Given the description of an element on the screen output the (x, y) to click on. 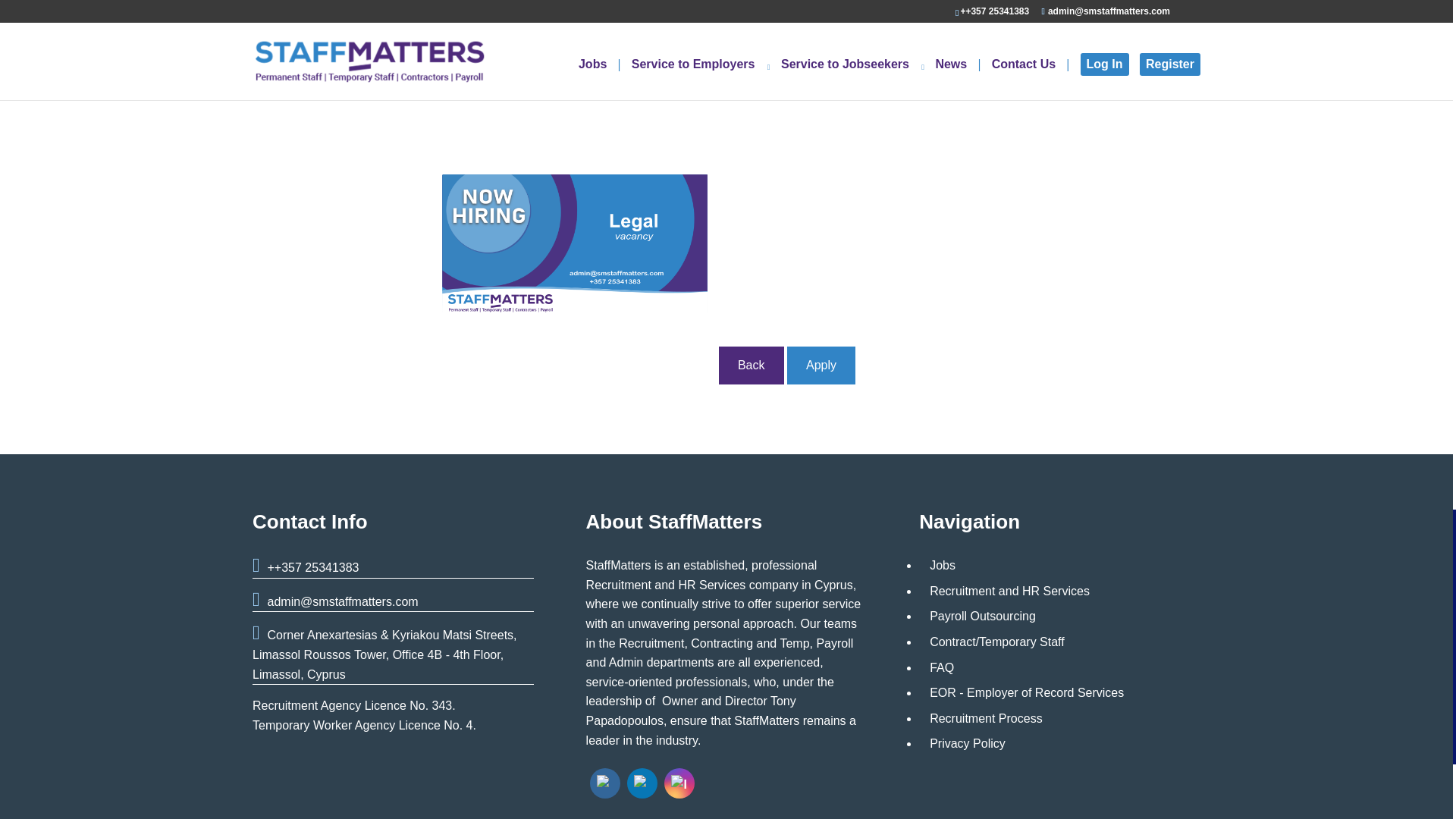
Back (751, 365)
Facebook (604, 782)
Apply (821, 365)
LinkedIn (641, 782)
Instagram (679, 782)
